Given the description of an element on the screen output the (x, y) to click on. 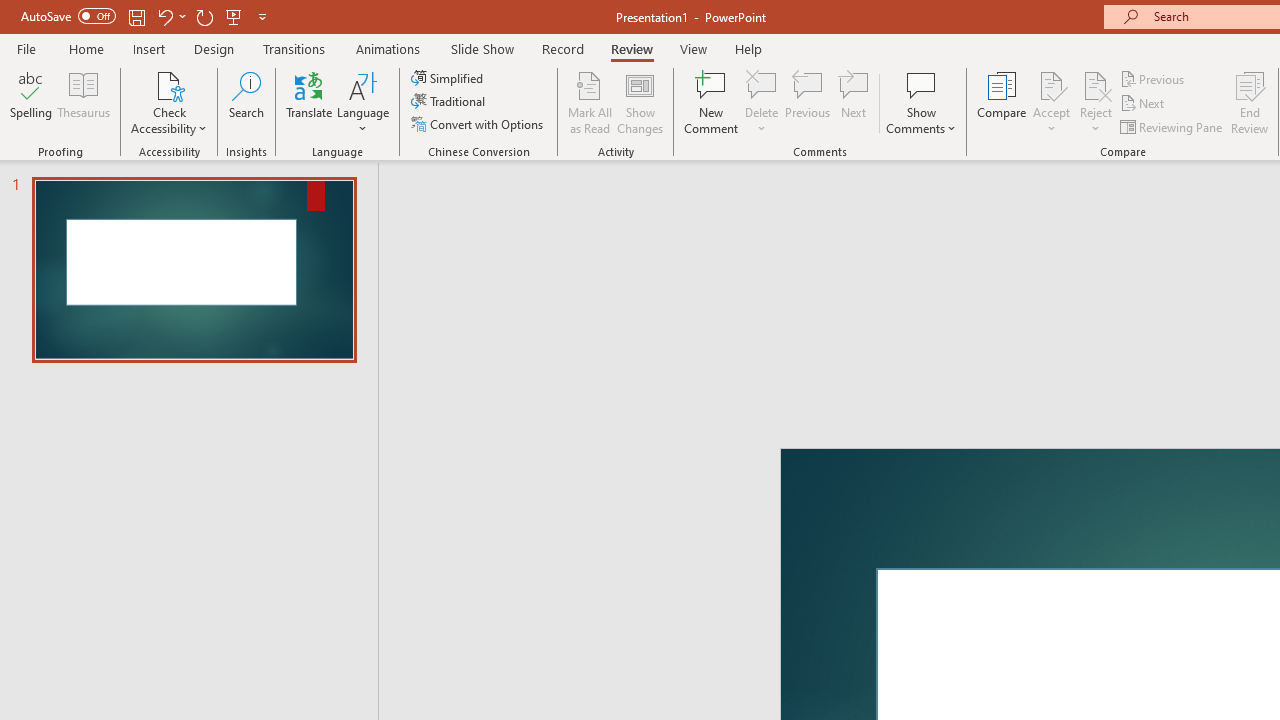
Reject (1096, 102)
Translate (309, 102)
Spelling... (31, 102)
Search (246, 102)
Compare (1002, 102)
